Given the description of an element on the screen output the (x, y) to click on. 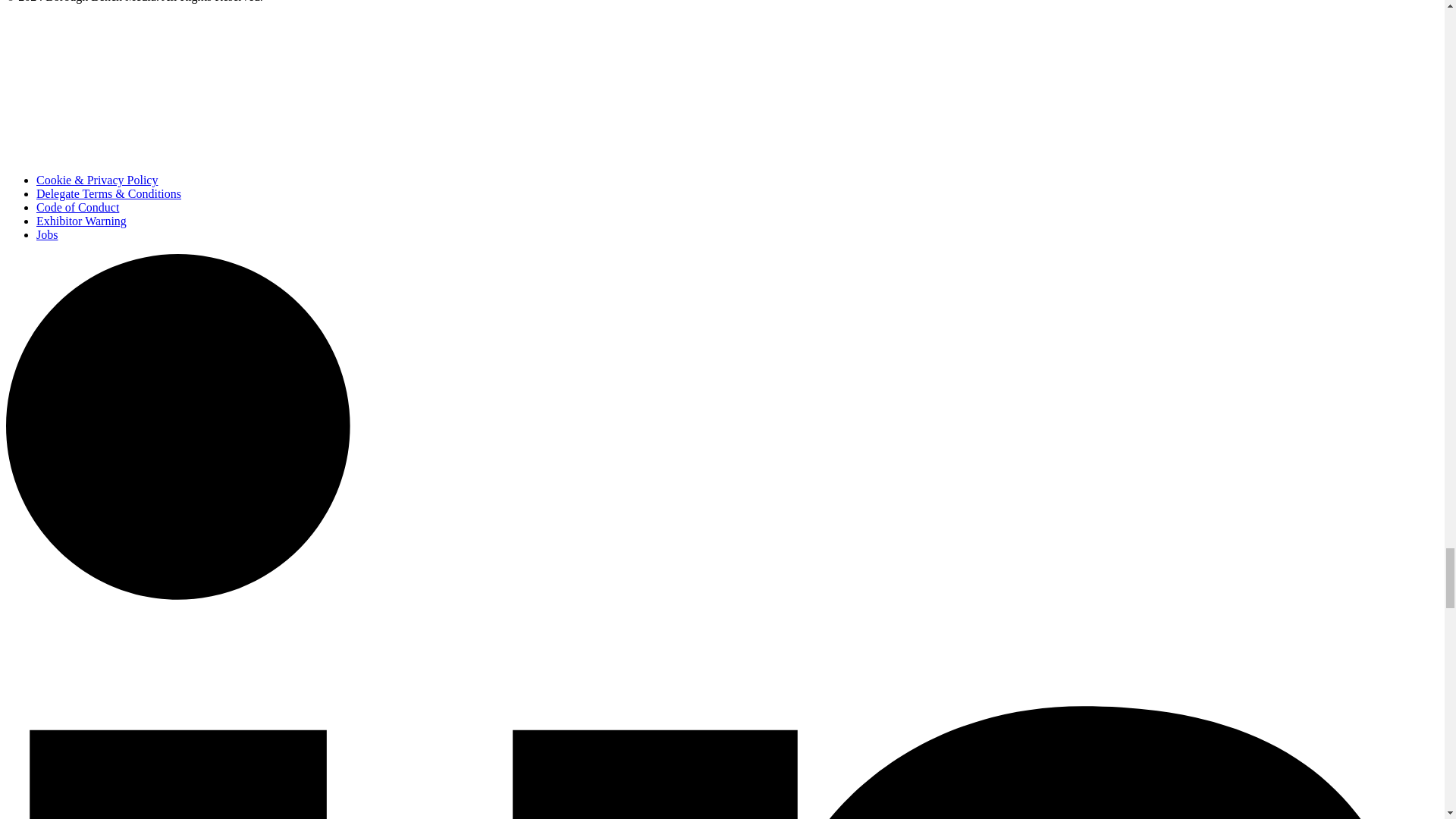
aeo-member (102, 86)
